Given the description of an element on the screen output the (x, y) to click on. 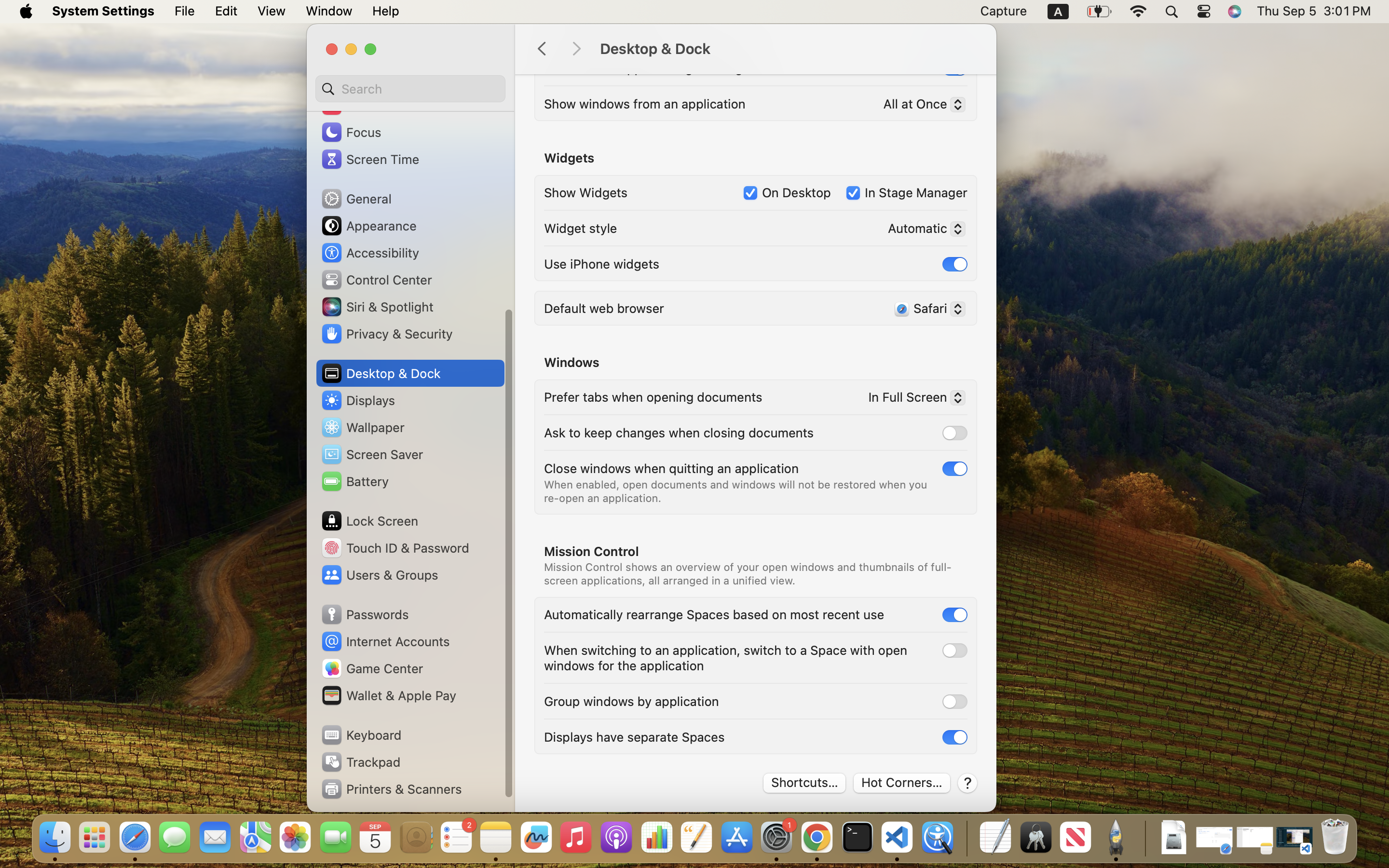
Siri & Spotlight Element type: AXStaticText (376, 306)
Appearance Element type: AXStaticText (368, 225)
0.4285714328289032 Element type: AXDockItem (965, 837)
Close windows when quitting an application Element type: AXStaticText (671, 467)
Accessibility Element type: AXStaticText (369, 252)
